Given the description of an element on the screen output the (x, y) to click on. 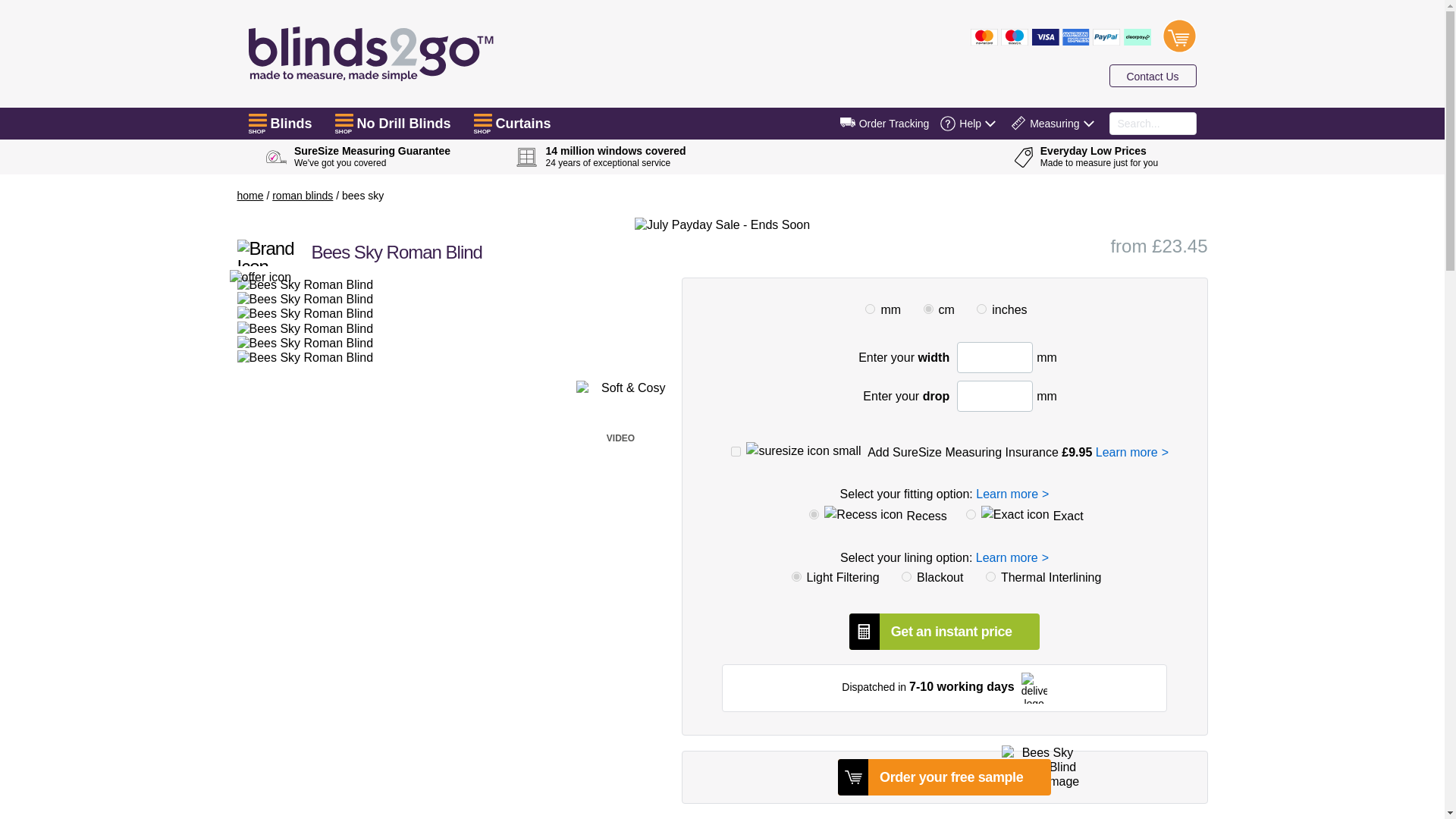
E (970, 514)
white down arrow icon (1088, 122)
delivery icon (848, 121)
white down arrow icon (990, 122)
570 (906, 576)
burger icon (257, 119)
R (813, 514)
2 (981, 308)
569 (797, 576)
on (735, 451)
burger icon (343, 119)
706 (990, 576)
burger icon (483, 119)
1 (869, 308)
Contact Us (1151, 74)
